Given the description of an element on the screen output the (x, y) to click on. 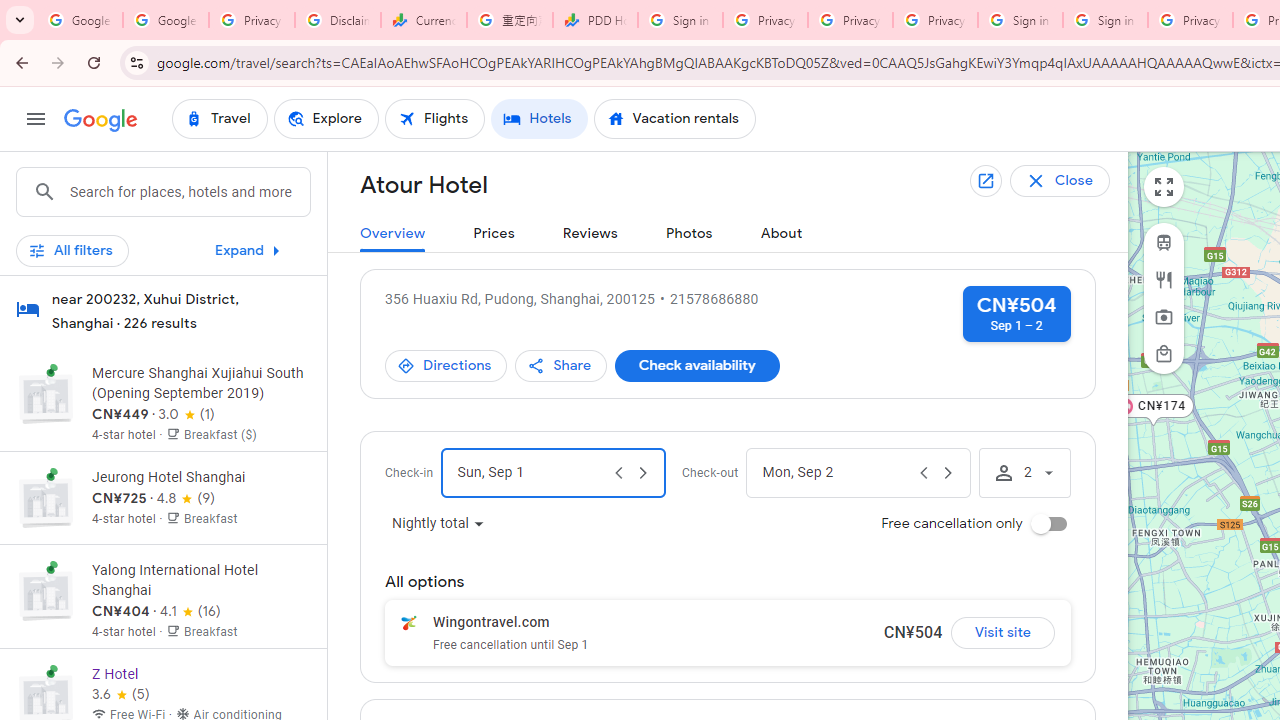
Main menu (35, 119)
Skip to main content (163, 259)
Currencies - Google Finance (424, 20)
Check availability (696, 365)
Hotels (539, 118)
Open Atour Hotel in a new tab. (987, 181)
Photos (688, 233)
Sign in - Google Accounts (1105, 20)
Open in new tab (985, 180)
Sign in - Google Accounts (680, 20)
3.6 out of 5 stars from 5 reviews (120, 694)
Privacy Checkup (850, 20)
